Given the description of an element on the screen output the (x, y) to click on. 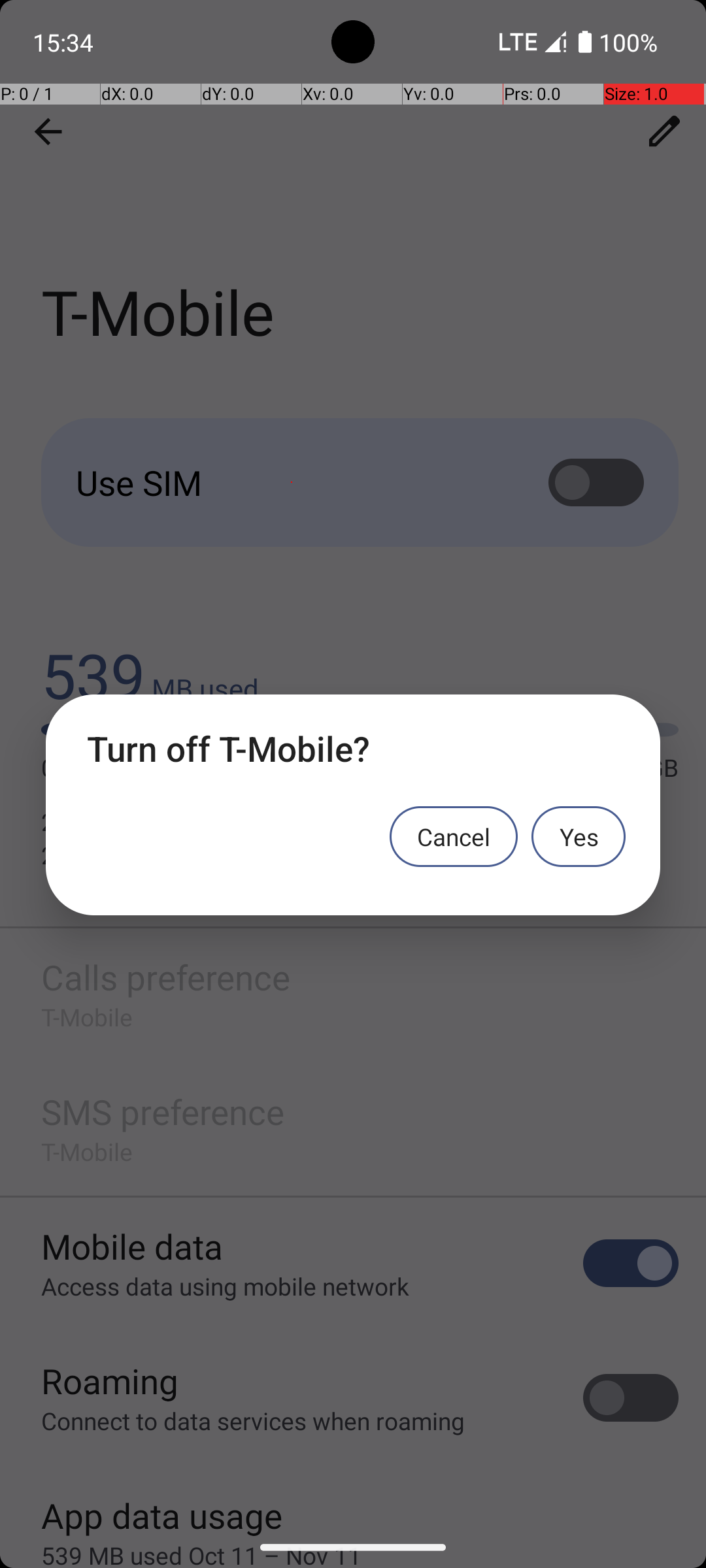
Turn off T-Mobile? Element type: android.widget.TextView (352, 748)
